Given the description of an element on the screen output the (x, y) to click on. 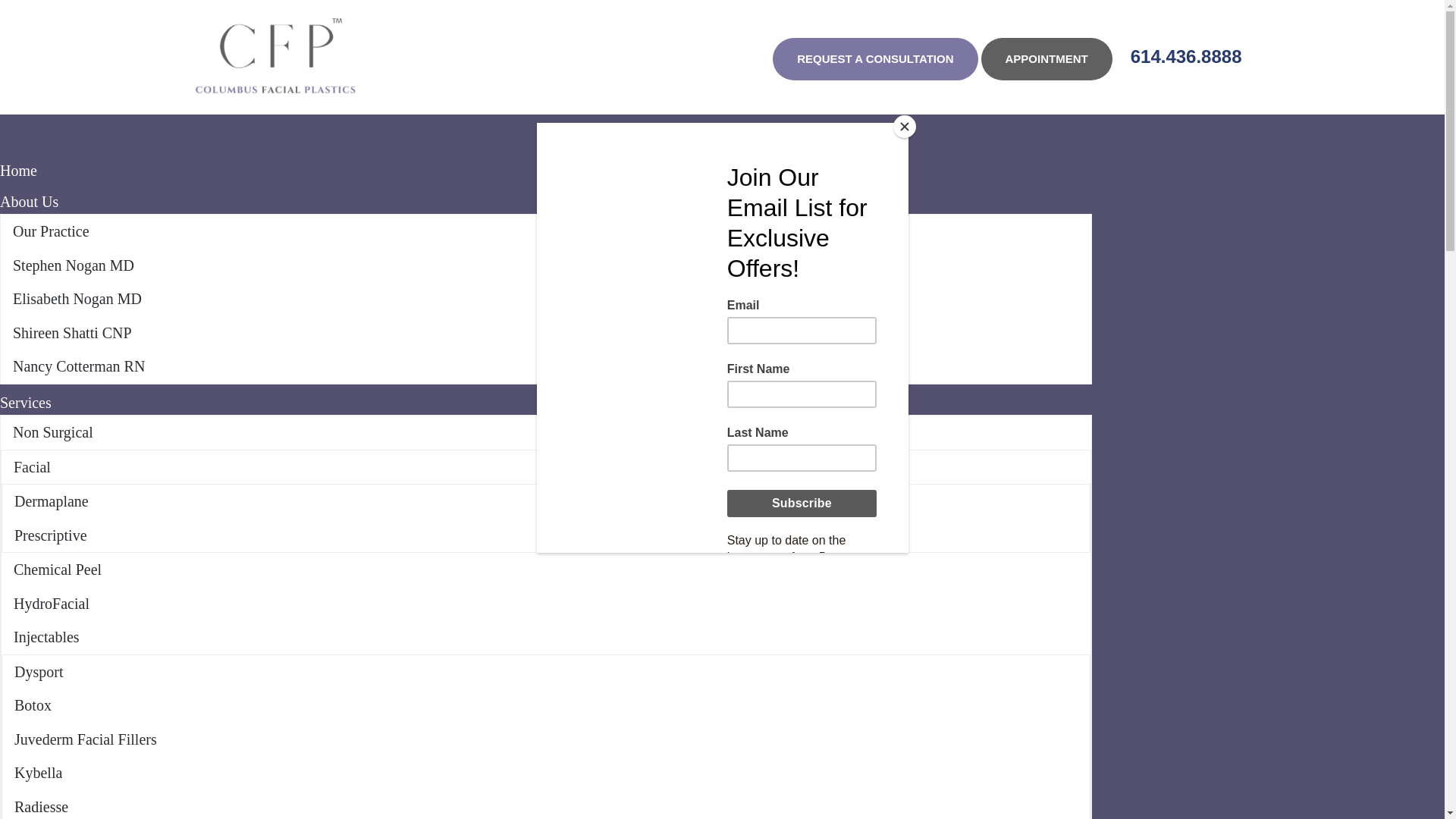
Botox (545, 705)
Juvederm Facial Fillers (545, 739)
About Us (546, 201)
Non Surgical (545, 432)
HydroFacial (545, 603)
Facial (545, 467)
Our Practice (545, 231)
Nancy Cotterman RN (545, 366)
REQUEST A CONSULTATION (874, 58)
Prescriptive (545, 535)
Services (546, 402)
Stephen Nogan MD (545, 265)
614.436.8888 (1186, 56)
Home (546, 170)
Dermaplane (545, 501)
